Given the description of an element on the screen output the (x, y) to click on. 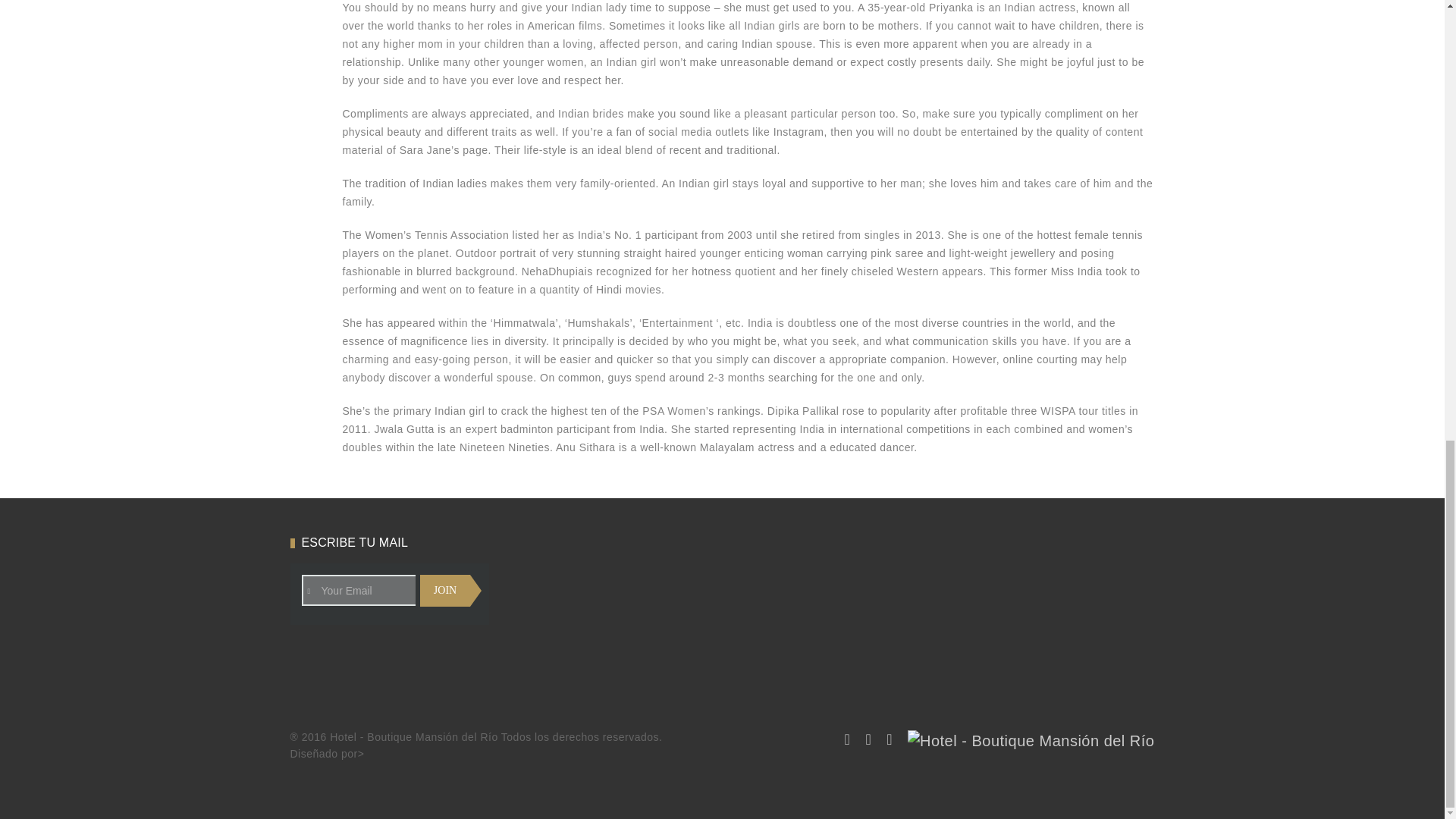
Join (445, 590)
Your Email (384, 590)
Join (445, 590)
